Given the description of an element on the screen output the (x, y) to click on. 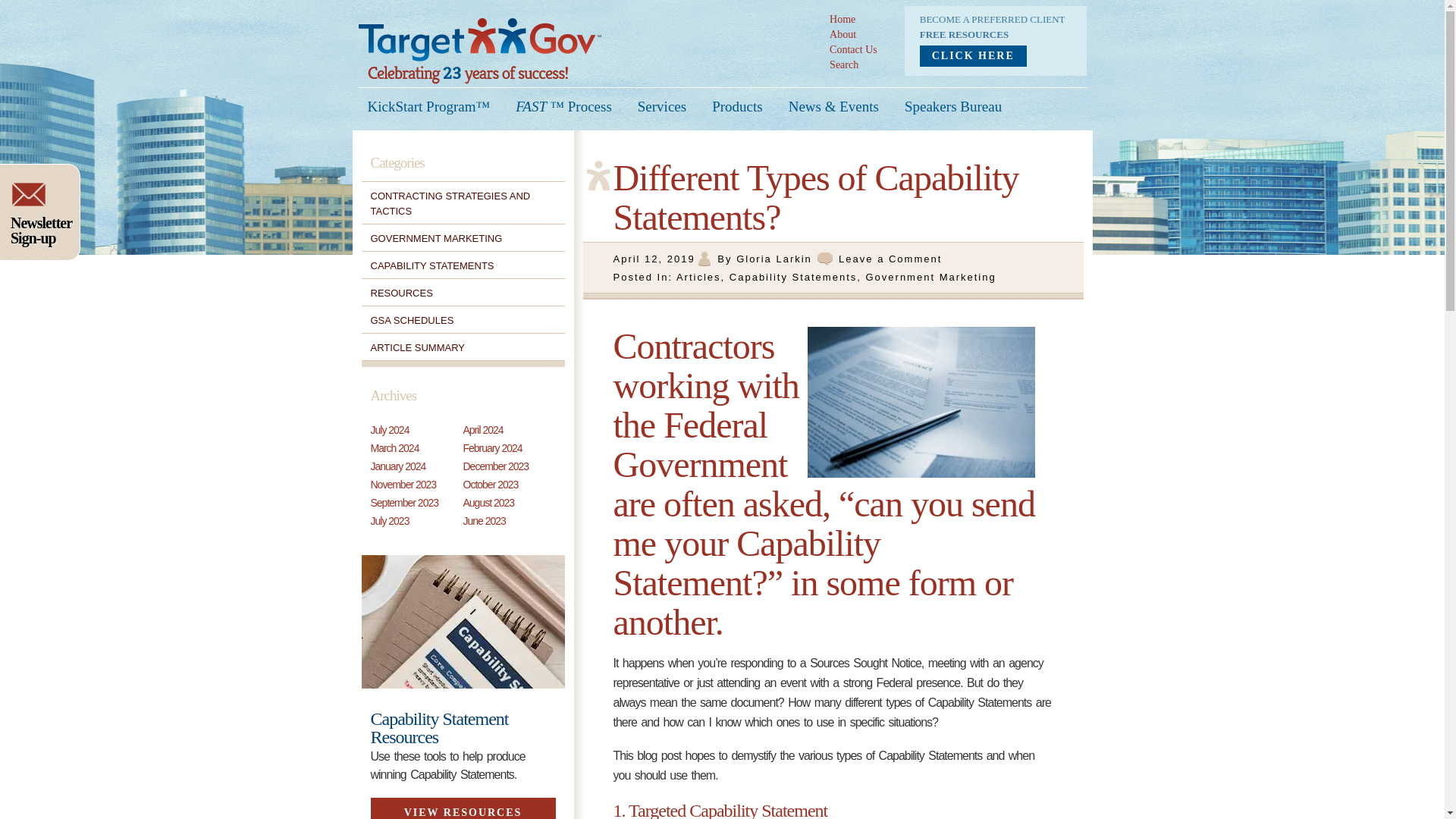
Gloria Larkin (774, 258)
CONTRACTING STRATEGIES AND TACTICS (449, 203)
Products (736, 106)
Products (736, 106)
About (842, 34)
Speakers Bureau (952, 106)
Services (661, 106)
TargetGov (478, 42)
CAPABILITY STATEMENTS (431, 265)
Capability Statements (793, 276)
CLICK HERE (973, 55)
Speakers Bureau (952, 106)
Search (844, 64)
Permalink to Different Types of Capability Statements? (653, 258)
Government Marketing (929, 276)
